Given the description of an element on the screen output the (x, y) to click on. 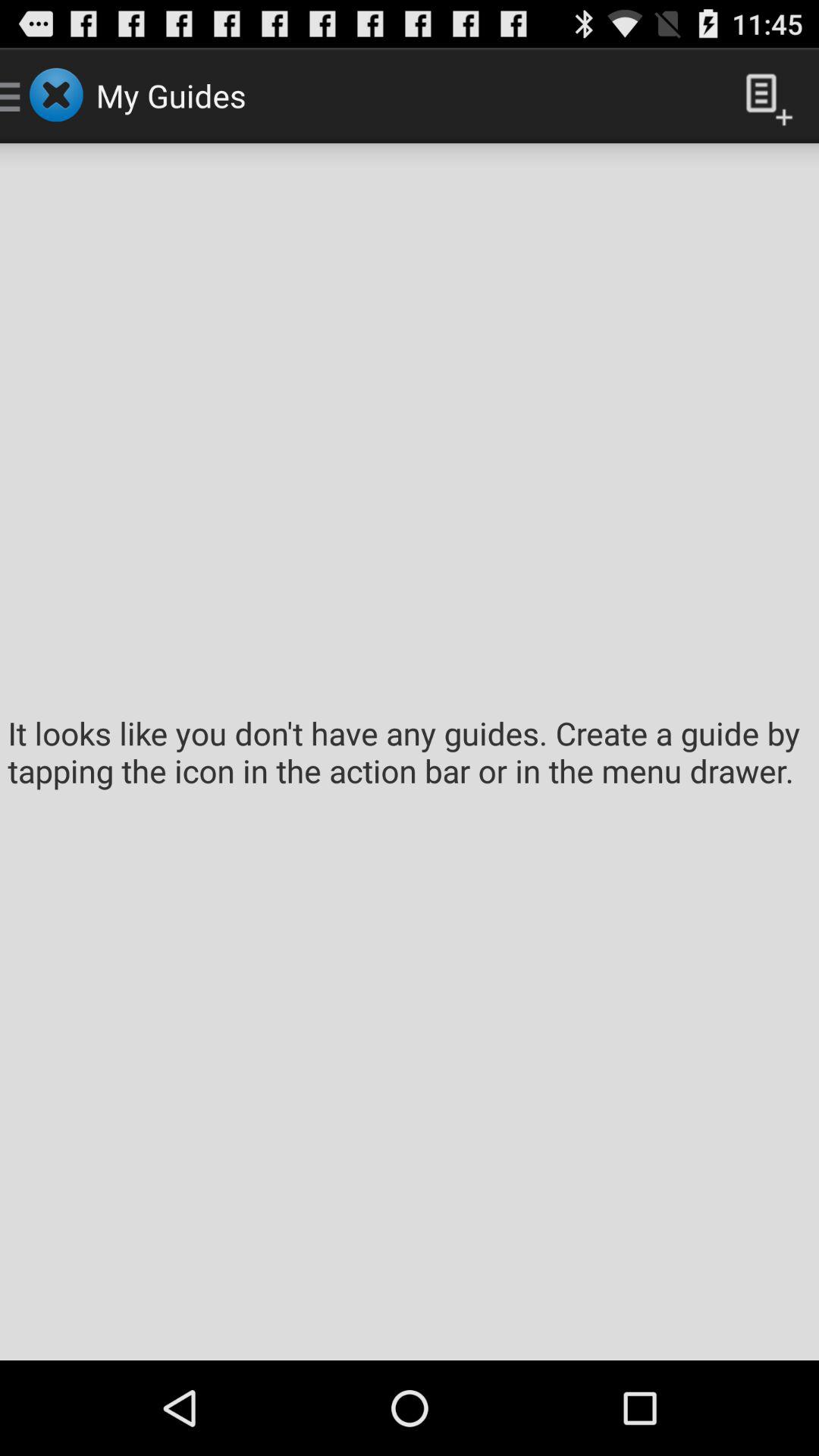
turn on icon to the right of the my guides icon (763, 95)
